Given the description of an element on the screen output the (x, y) to click on. 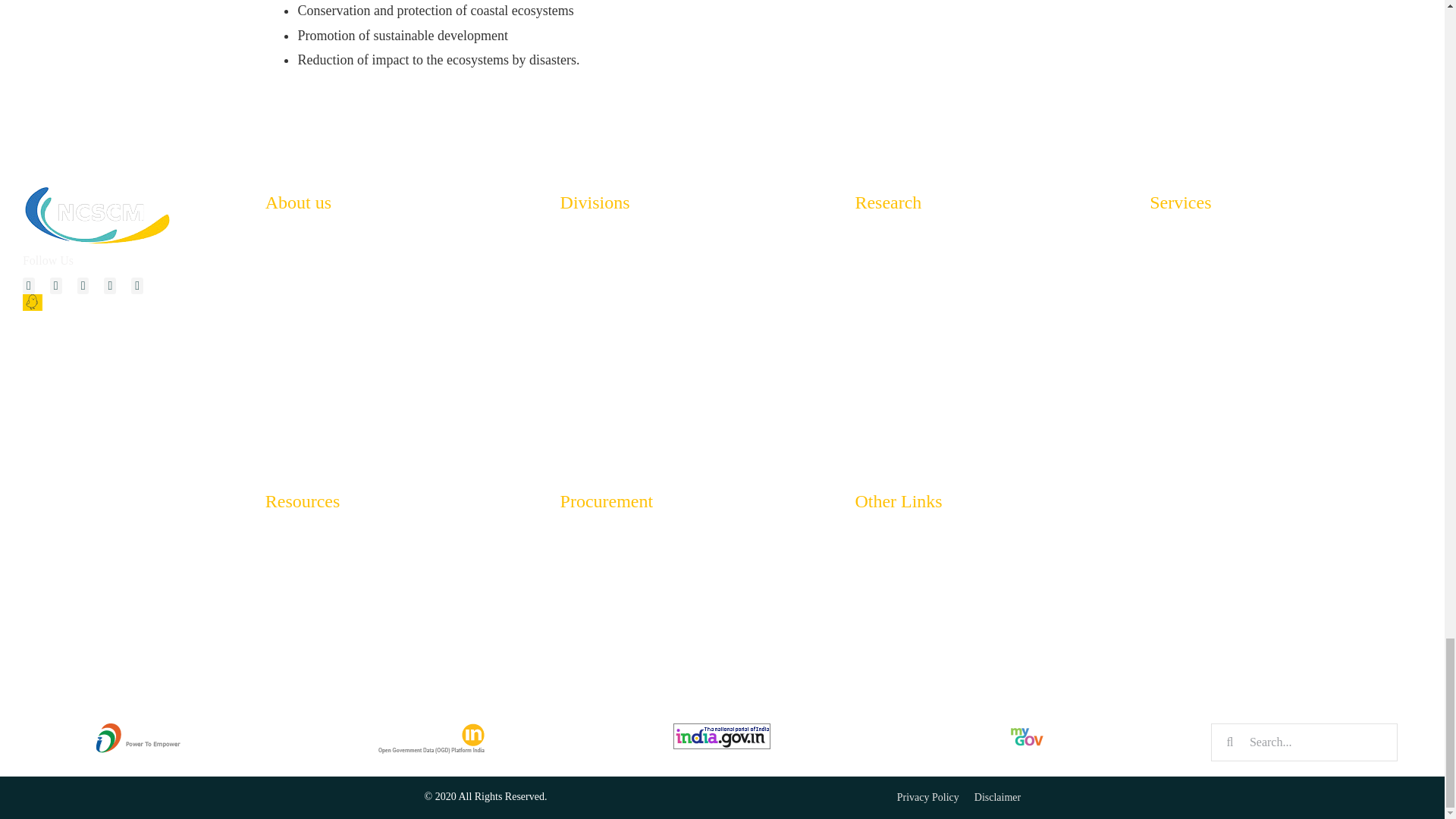
logo (98, 214)
